Given the description of an element on the screen output the (x, y) to click on. 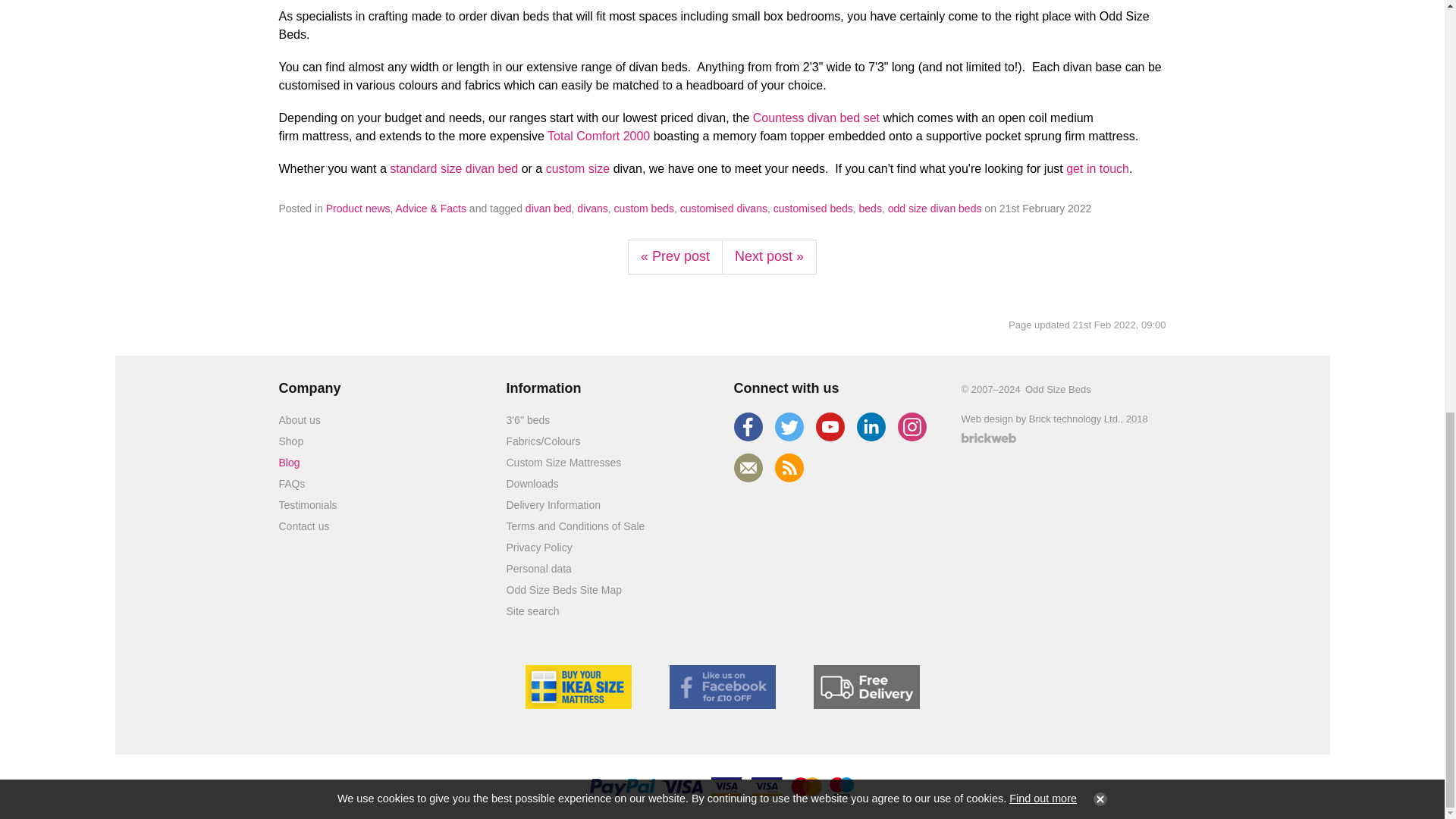
Customer Services Contact Details. By Telephone. By E-mail. (304, 526)
